Given the description of an element on the screen output the (x, y) to click on. 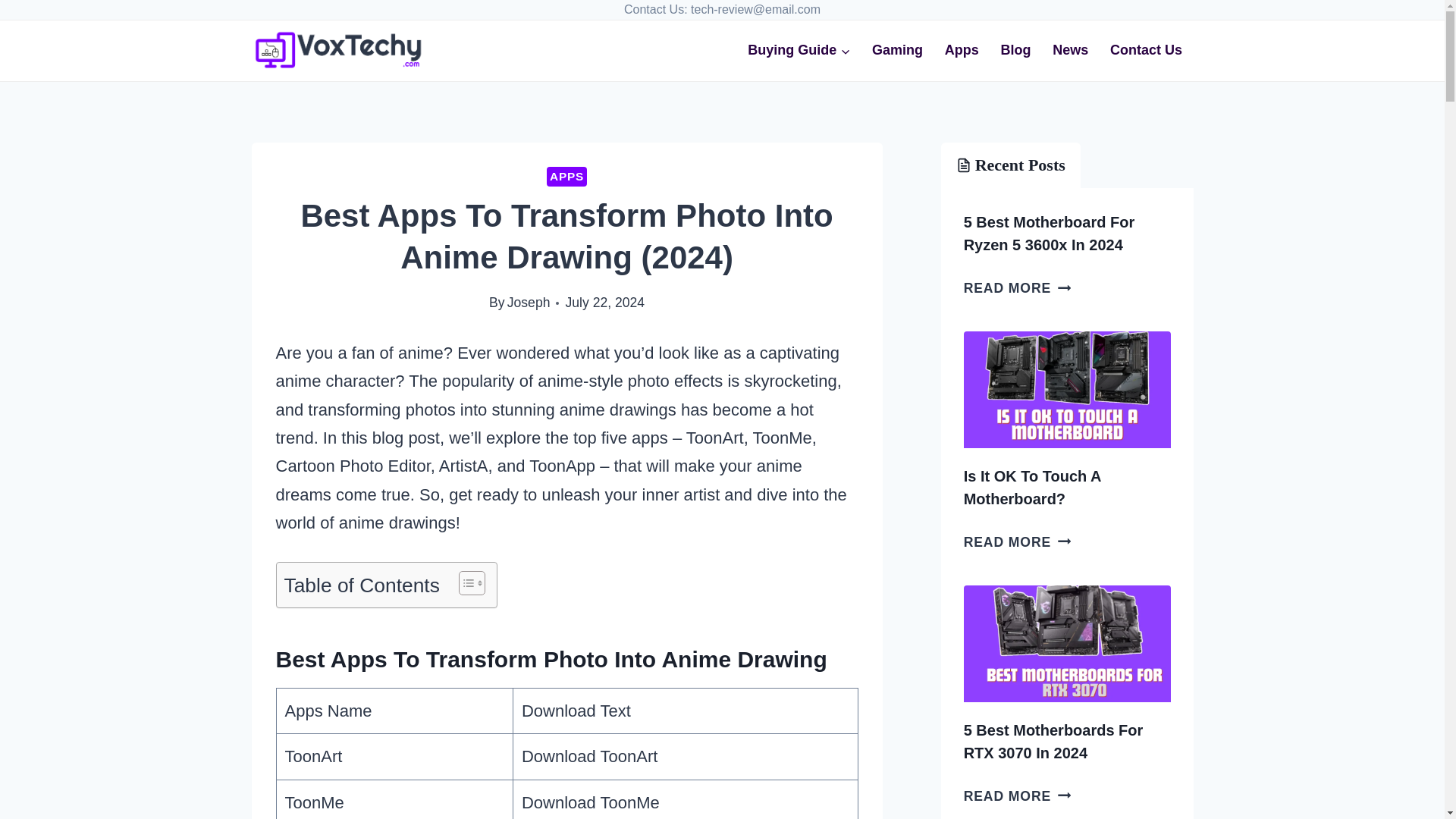
Blog (1016, 50)
News (1070, 50)
Contact Us (1146, 50)
Joseph (528, 302)
Apps (961, 50)
Buying Guide (798, 50)
APPS (566, 176)
Gaming (897, 50)
